Given the description of an element on the screen output the (x, y) to click on. 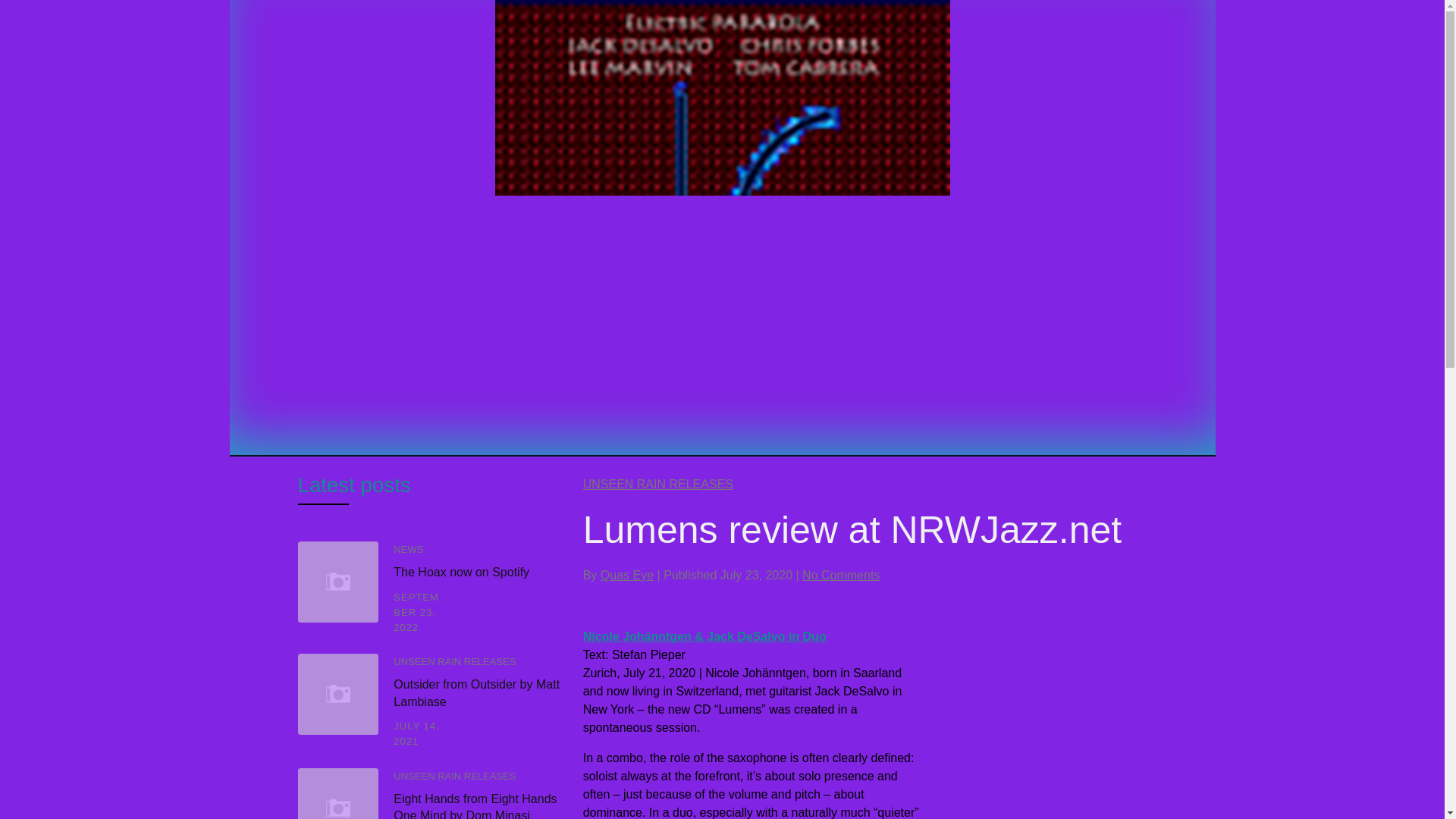
UNSEEN RAIN RELEASES (658, 483)
UNSEEN RAIN RELEASES (454, 661)
Posts by Quas Eye (626, 574)
UNSEEN RAIN RELEASES (454, 776)
No Comments (840, 574)
NEWS (408, 549)
Eight Hands from Eight Hands One Mind by Dom Minasi (474, 805)
The Hoax now on Spotify (461, 571)
Quas Eye (626, 574)
Outsider from Outsider by Matt Lambiase (476, 692)
